Given the description of an element on the screen output the (x, y) to click on. 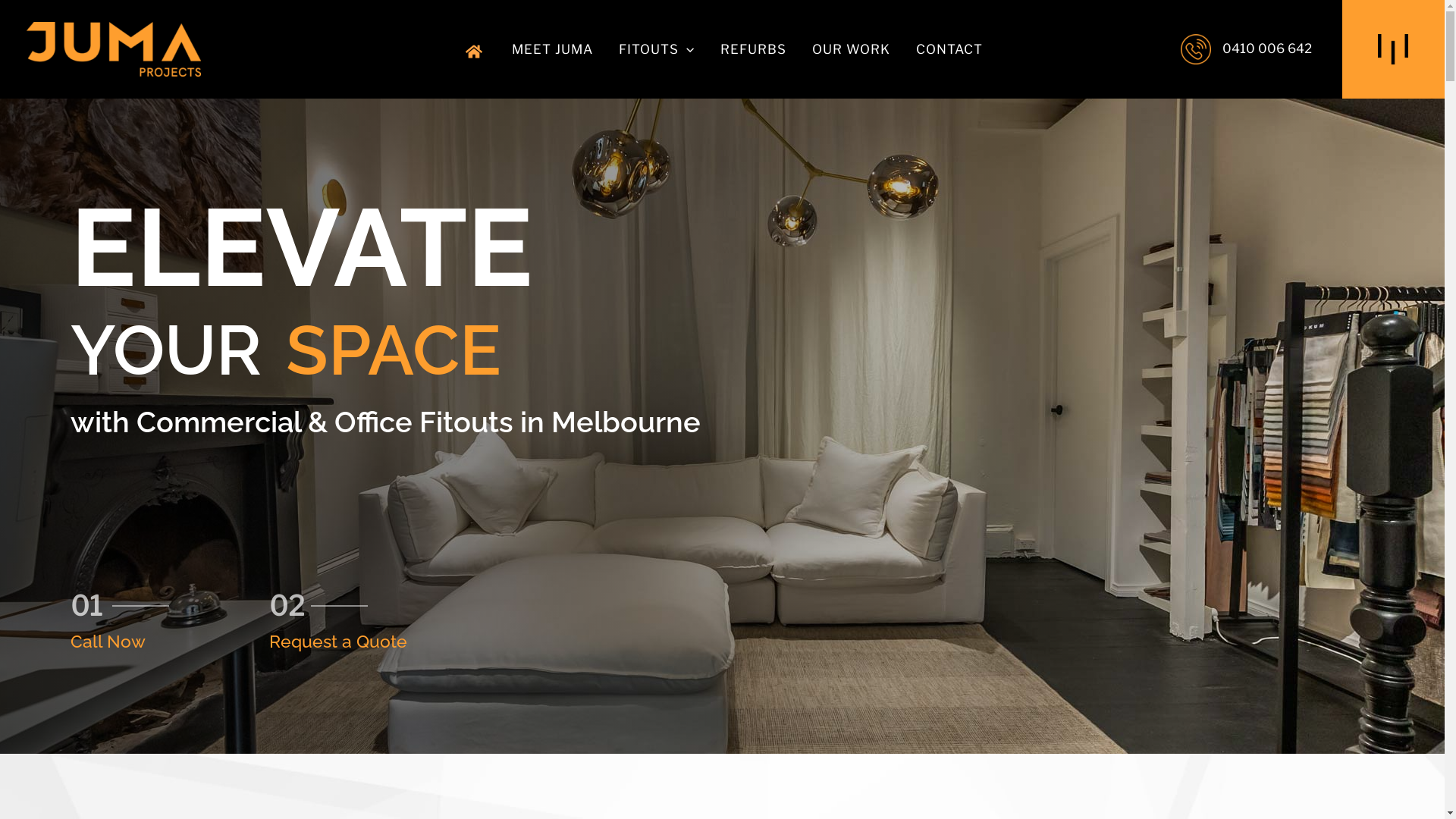
OUR WORK Element type: text (851, 48)
0410 006 642 Element type: text (1245, 48)
FITOUTS Element type: text (655, 48)
CONTACT Element type: text (949, 48)
Call Now Element type: text (106, 640)
MEET JUMA Element type: text (551, 48)
Main Menu Element type: text (1393, 48)
Request a Quote Element type: text (337, 640)
REFURBS Element type: text (753, 48)
